Given the description of an element on the screen output the (x, y) to click on. 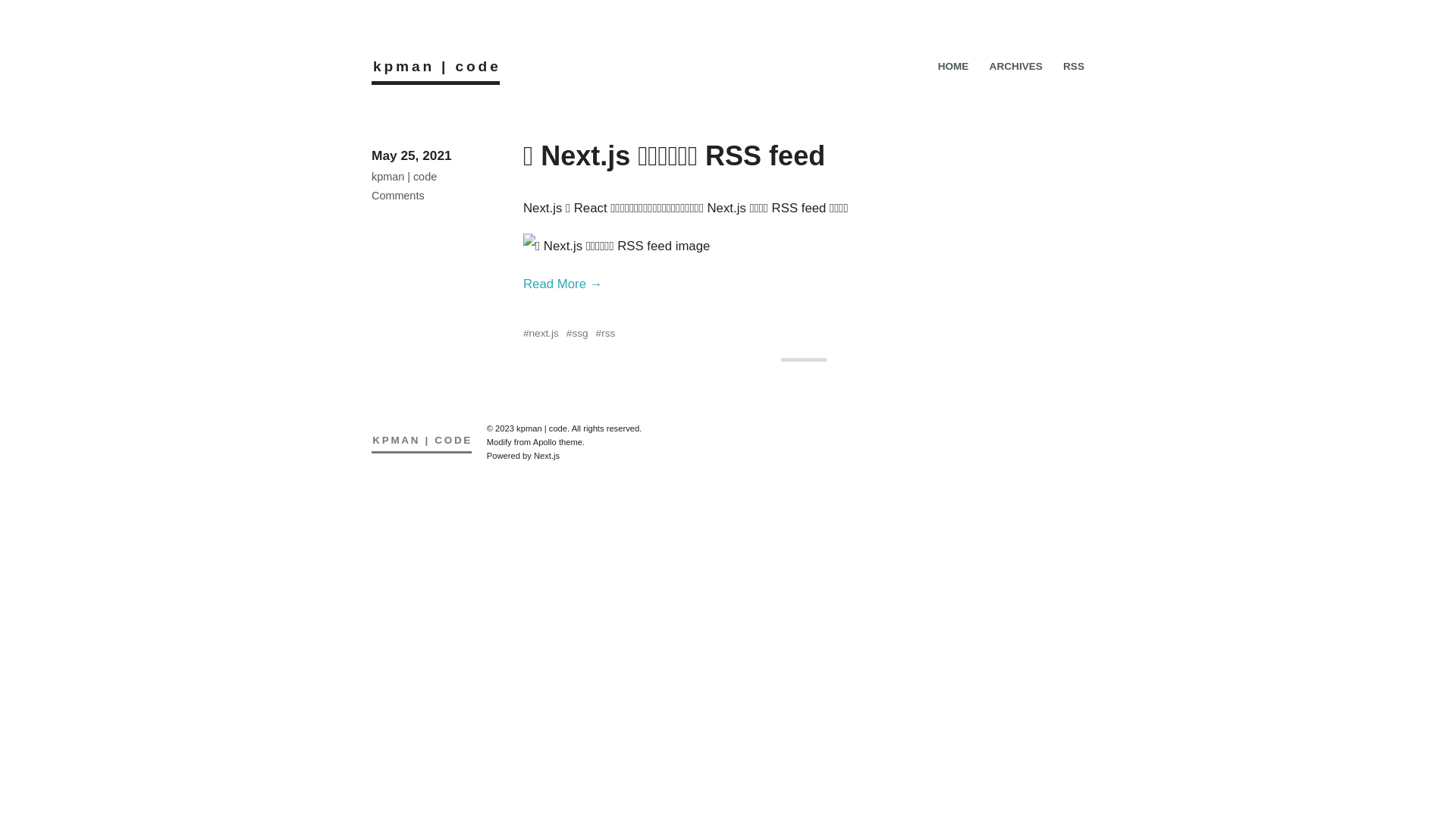
ssg Element type: text (579, 332)
HOME Element type: text (953, 66)
May 25, 2021 Element type: text (411, 155)
KPMAN | CODE Element type: text (422, 440)
rss Element type: text (608, 332)
next.js Element type: text (543, 332)
RSS Element type: text (1073, 66)
Next.js Element type: text (546, 455)
Apollo Element type: text (544, 441)
ARCHIVES Element type: text (1015, 66)
Comments Element type: text (397, 195)
kpman | code Element type: text (437, 65)
